Given the description of an element on the screen output the (x, y) to click on. 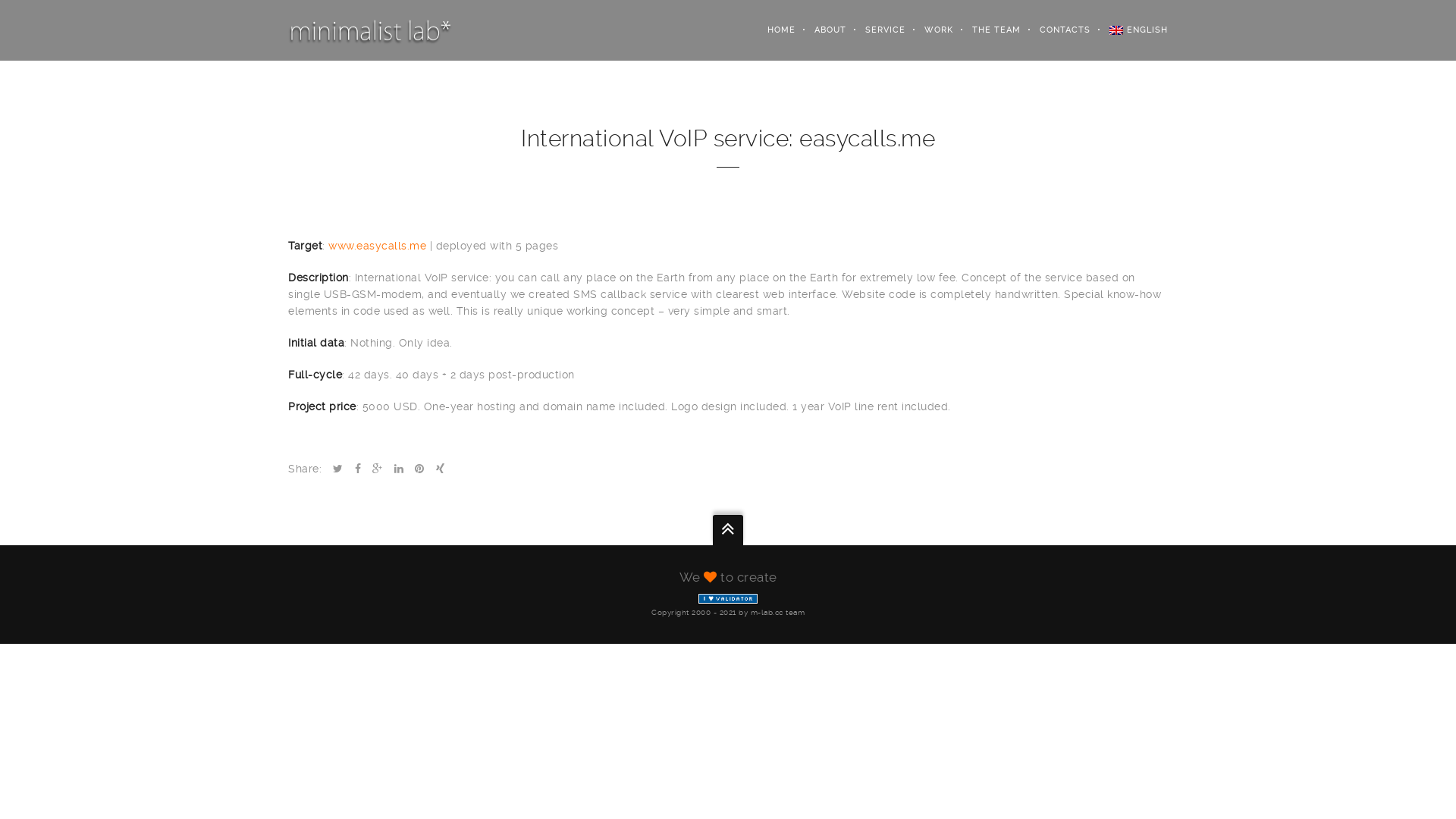
ENGLISH Element type: text (1128, 30)
SERVICE Element type: text (875, 30)
minimalist lab* Element type: hover (369, 30)
CONTACTS Element type: text (1055, 30)
HOME Element type: text (771, 30)
ABOUT Element type: text (820, 30)
www.easycalls.me Element type: text (377, 245)
THE TEAM Element type: text (986, 30)
WORK Element type: text (929, 30)
English Element type: hover (1116, 29)
